Given the description of an element on the screen output the (x, y) to click on. 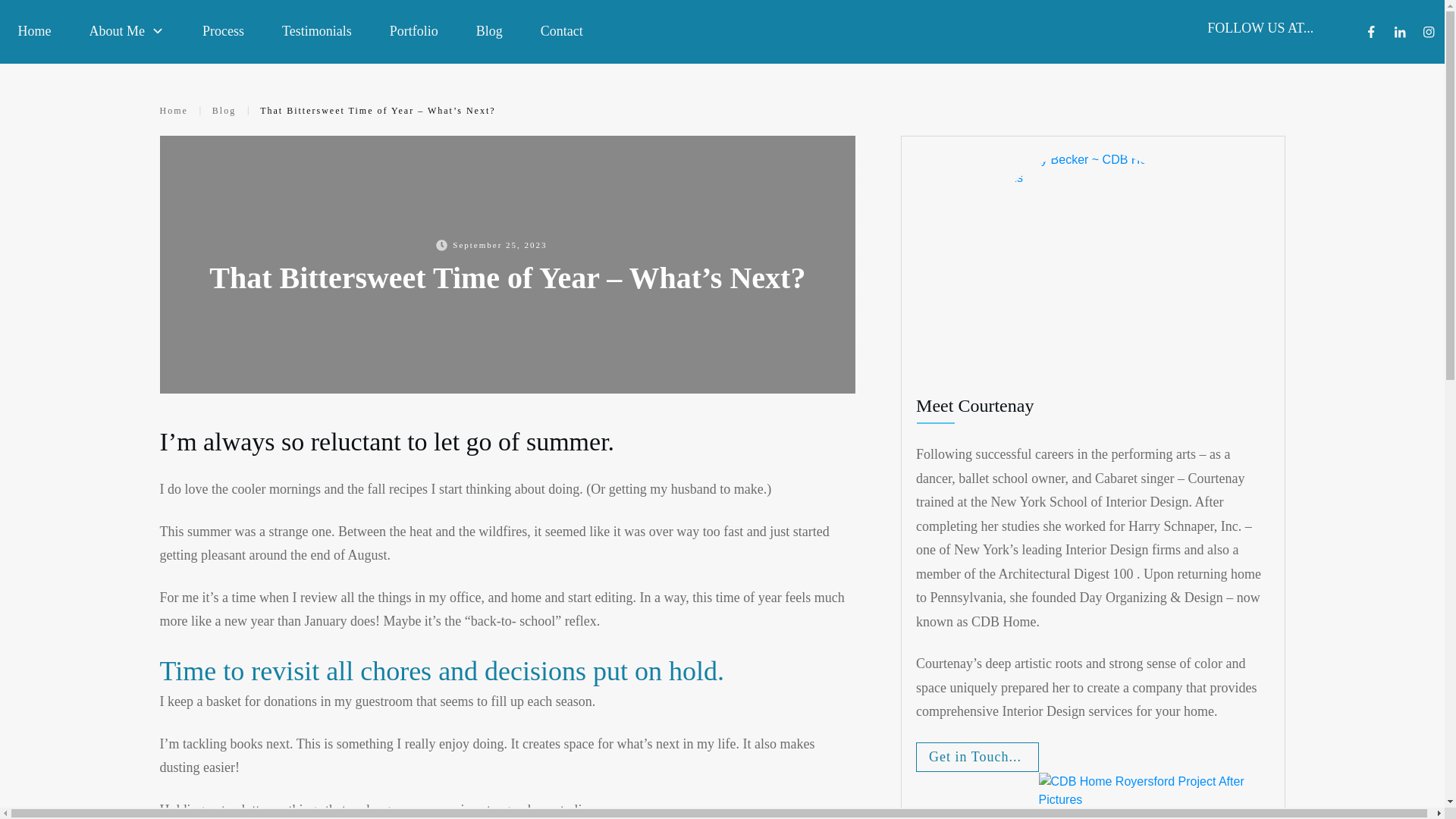
Blog (223, 110)
Blog (489, 31)
About Me (126, 31)
Home (172, 110)
Contact (561, 31)
Get in Touch...  (976, 757)
Process (223, 31)
Testimonials (317, 31)
Home (33, 31)
CDB Home Royersford Project After Pictures (1154, 796)
